Given the description of an element on the screen output the (x, y) to click on. 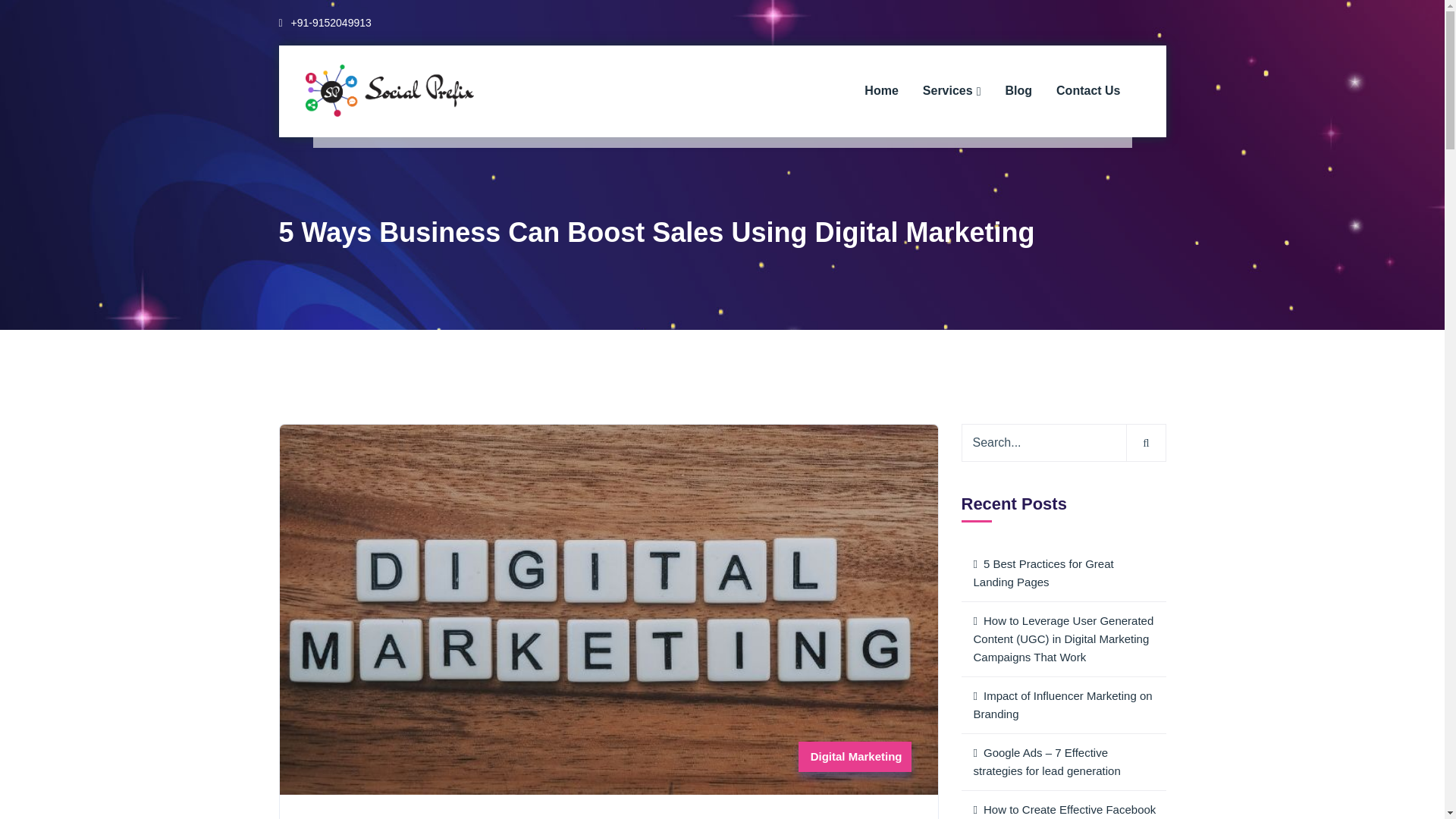
Digital Marketing (856, 756)
How to Create Effective Facebook Ads for Your Business (1063, 804)
Social Prefix (388, 89)
Impact of Influencer Marketing on Branding (1063, 704)
5 Best Practices for Great Landing Pages  (1063, 572)
